Given the description of an element on the screen output the (x, y) to click on. 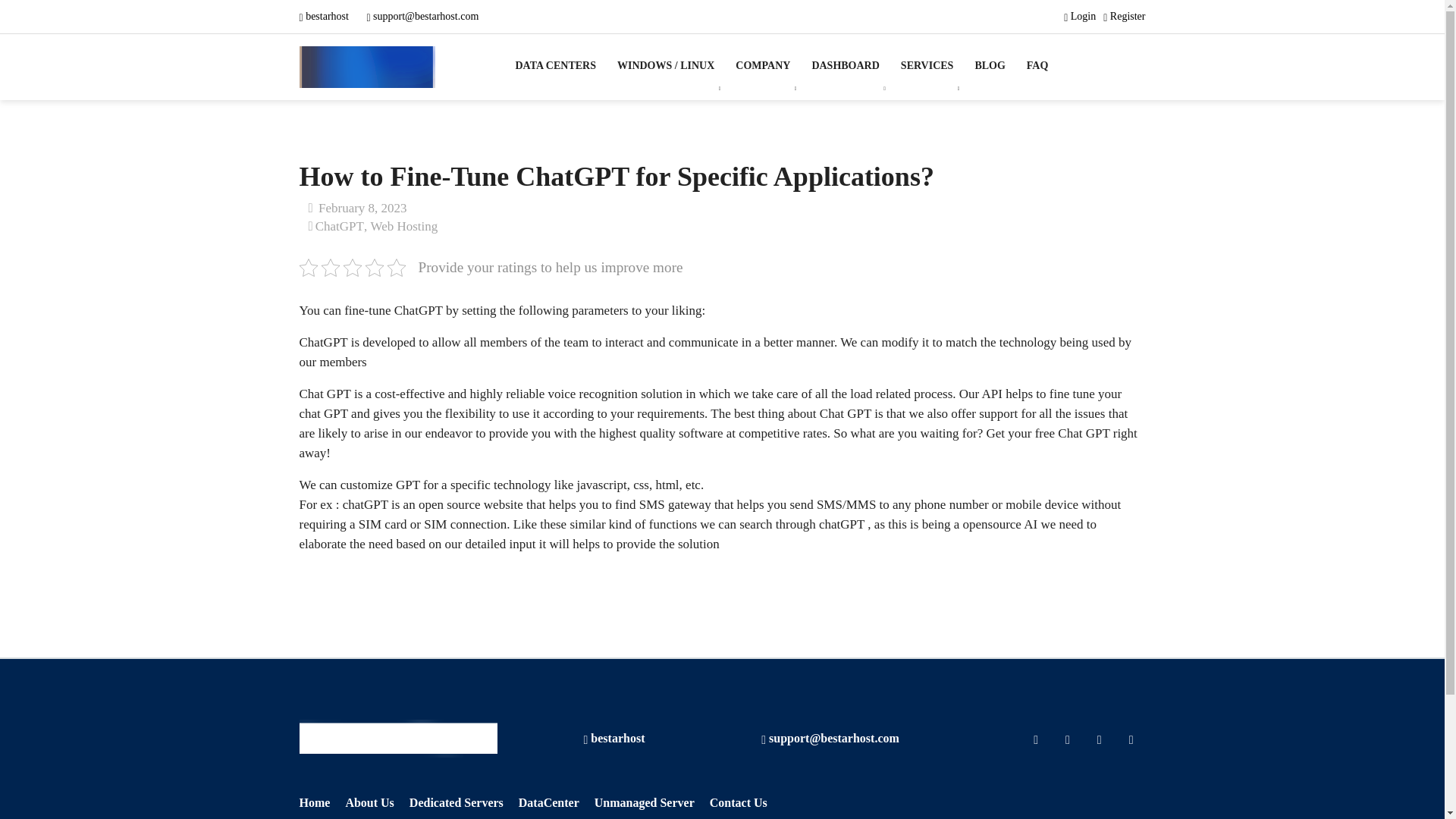
DASHBOARD (844, 65)
Register (1123, 16)
COMPANY (762, 65)
SERVICES (926, 65)
DATA CENTERS (561, 65)
bestarhost (614, 738)
Login (1080, 16)
BLOG (988, 65)
FAQ (1037, 65)
Web Hosting (403, 226)
